Given the description of an element on the screen output the (x, y) to click on. 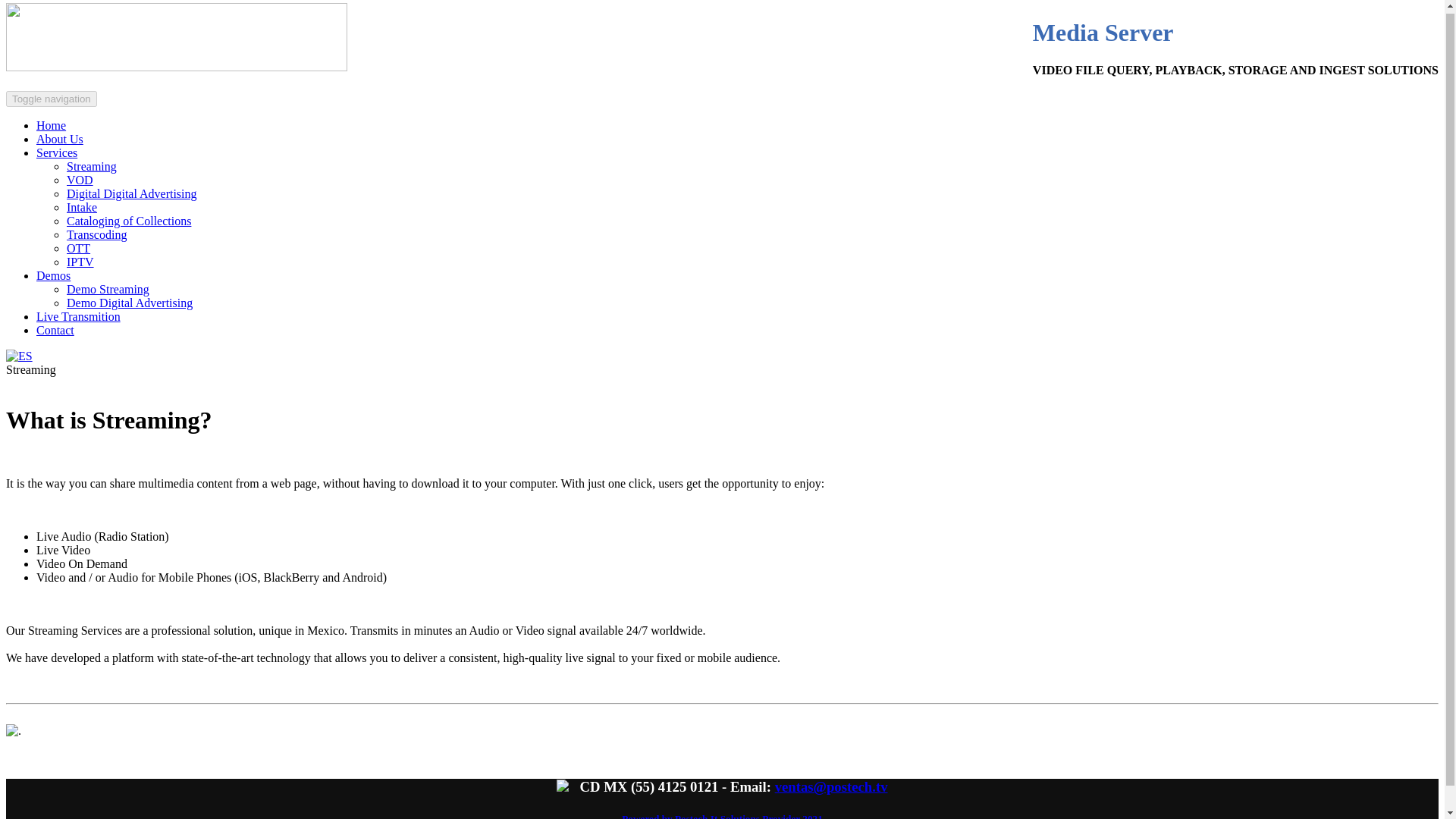
Intake (81, 206)
Demo Digital Advertising (129, 302)
Transcoding (96, 234)
IPTV (80, 261)
Services (56, 152)
Contact (55, 329)
About Us (59, 138)
Live Transmition (78, 316)
Demo Streaming (107, 288)
Toggle navigation (51, 98)
VOD (79, 179)
Cataloging of Collections (128, 220)
Streaming (91, 165)
OTT (78, 247)
Demos (52, 275)
